Given the description of an element on the screen output the (x, y) to click on. 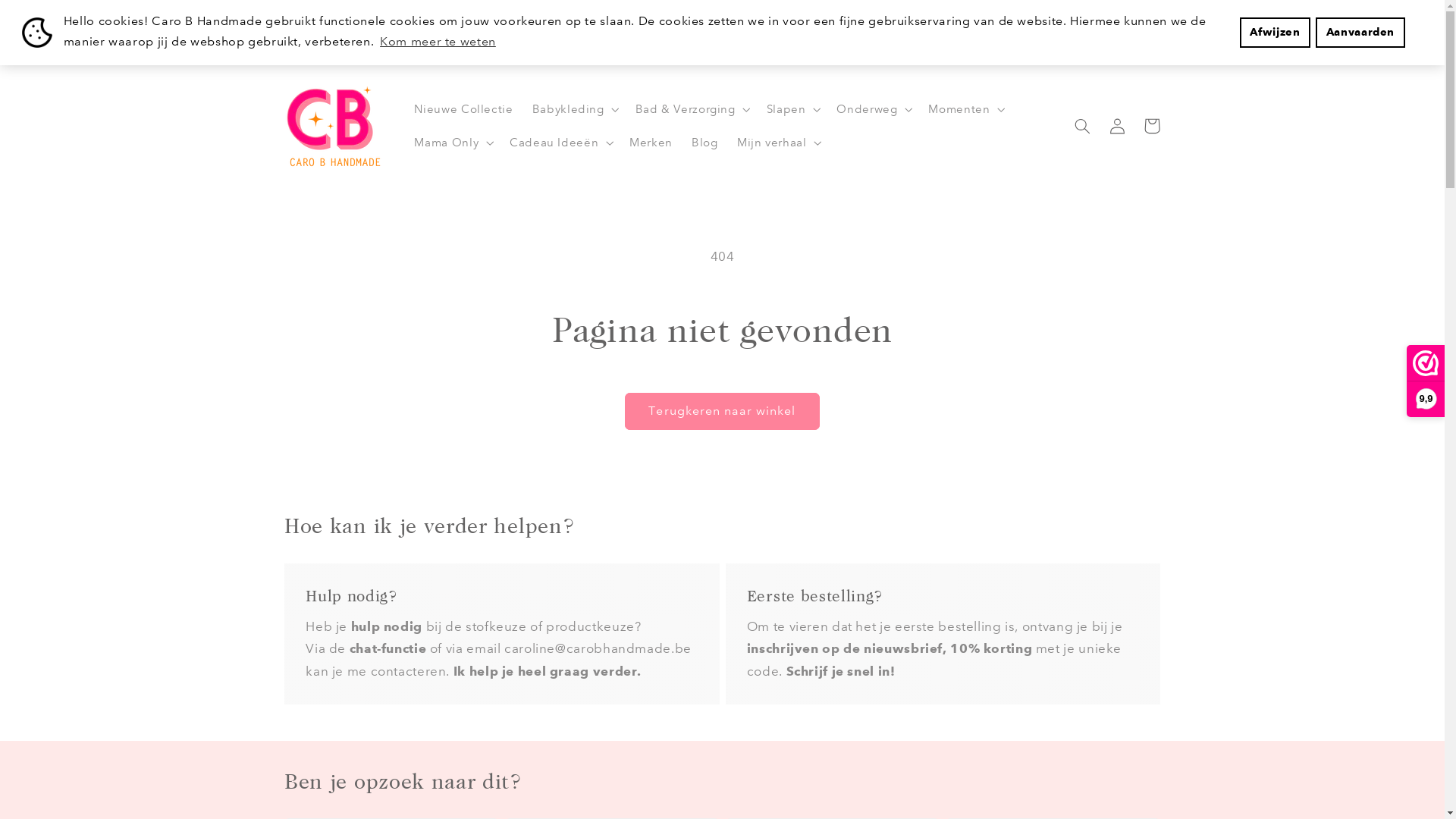
9,9 Element type: text (1425, 380)
Blog Element type: text (705, 142)
Inloggen Element type: text (1116, 125)
Winkelwagen Element type: text (1151, 125)
Merken Element type: text (651, 142)
Kom meer te weten Element type: text (437, 41)
Afwijzen Element type: text (1274, 32)
MAMA FRIDAY DEALS Element type: text (722, 15)
Terugkeren naar winkel Element type: text (721, 410)
Nieuwe Collectie Element type: text (463, 108)
Aanvaarden Element type: text (1359, 32)
